Given the description of an element on the screen output the (x, y) to click on. 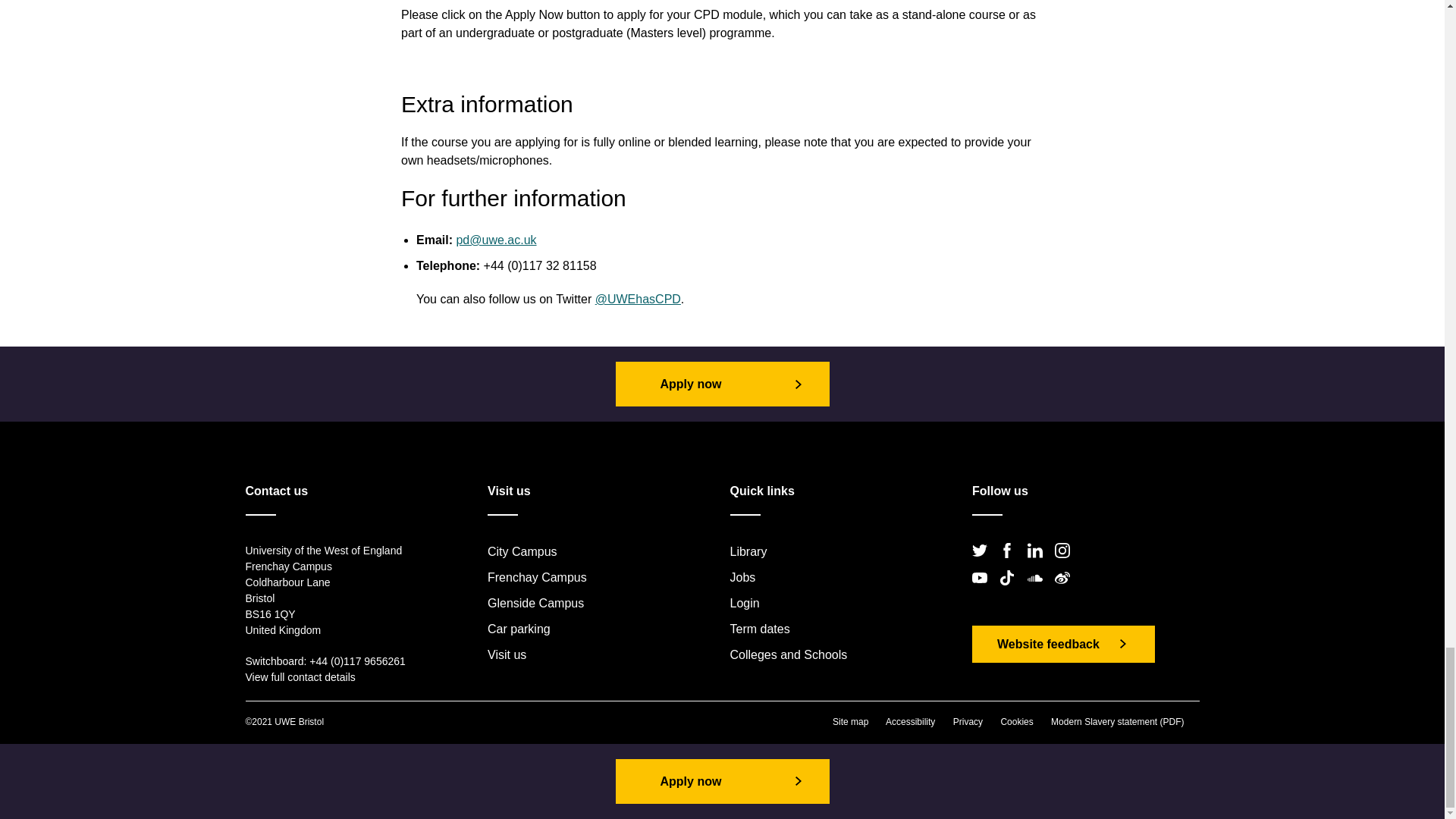
Twitter (983, 562)
Instagram (1066, 562)
Facebook (1010, 562)
YouTube (983, 590)
LinkedIn (1039, 562)
TikTok (1010, 590)
SoundCloud (1039, 590)
Weibo (1066, 590)
